Given the description of an element on the screen output the (x, y) to click on. 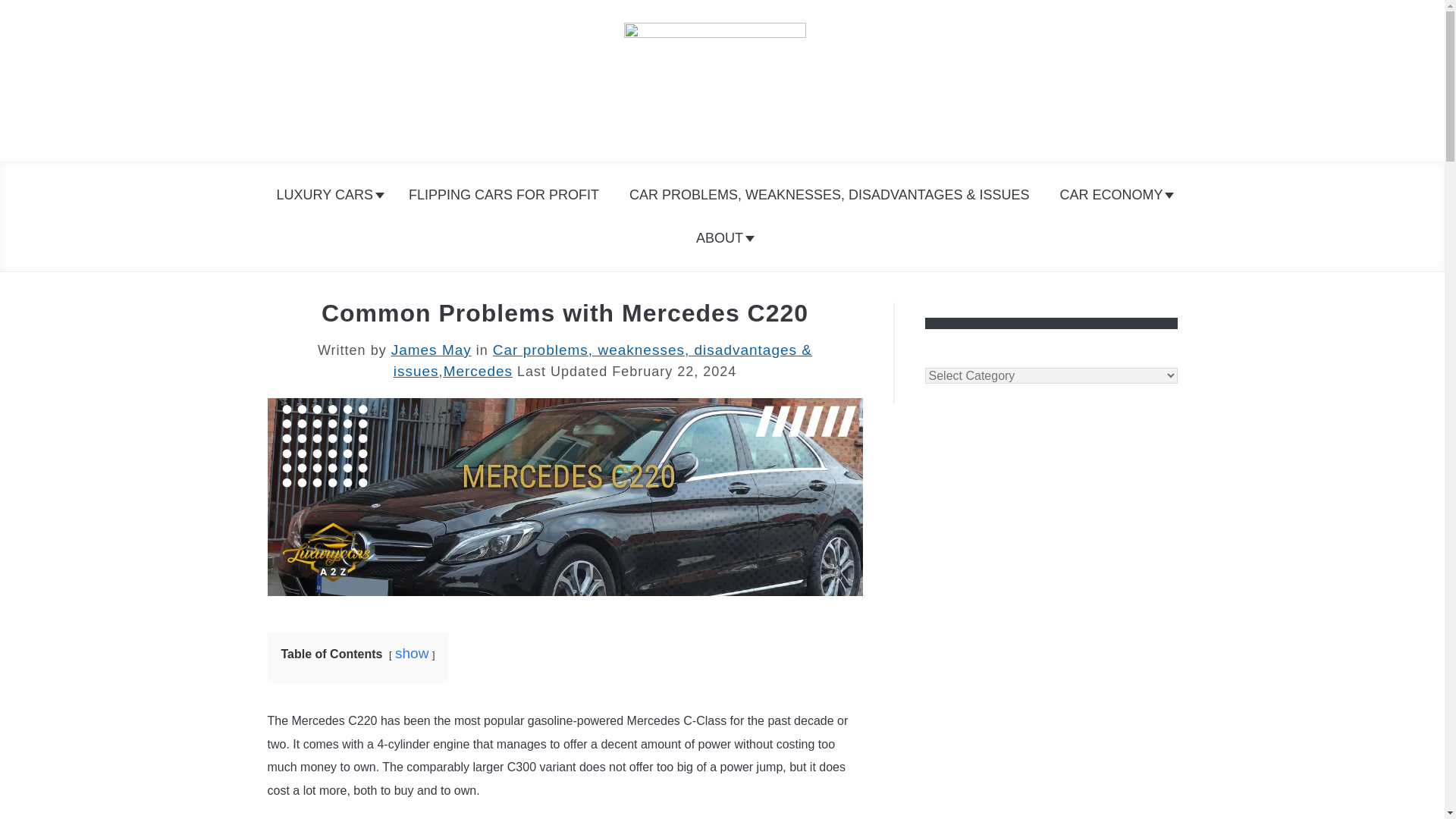
CAR ECONOMY (1112, 194)
Search (1172, 80)
show (411, 652)
Mercedes (478, 371)
LUXURY CARS (327, 194)
James May (431, 349)
FLIPPING CARS FOR PROFIT (503, 194)
ABOUT (721, 238)
